Given the description of an element on the screen output the (x, y) to click on. 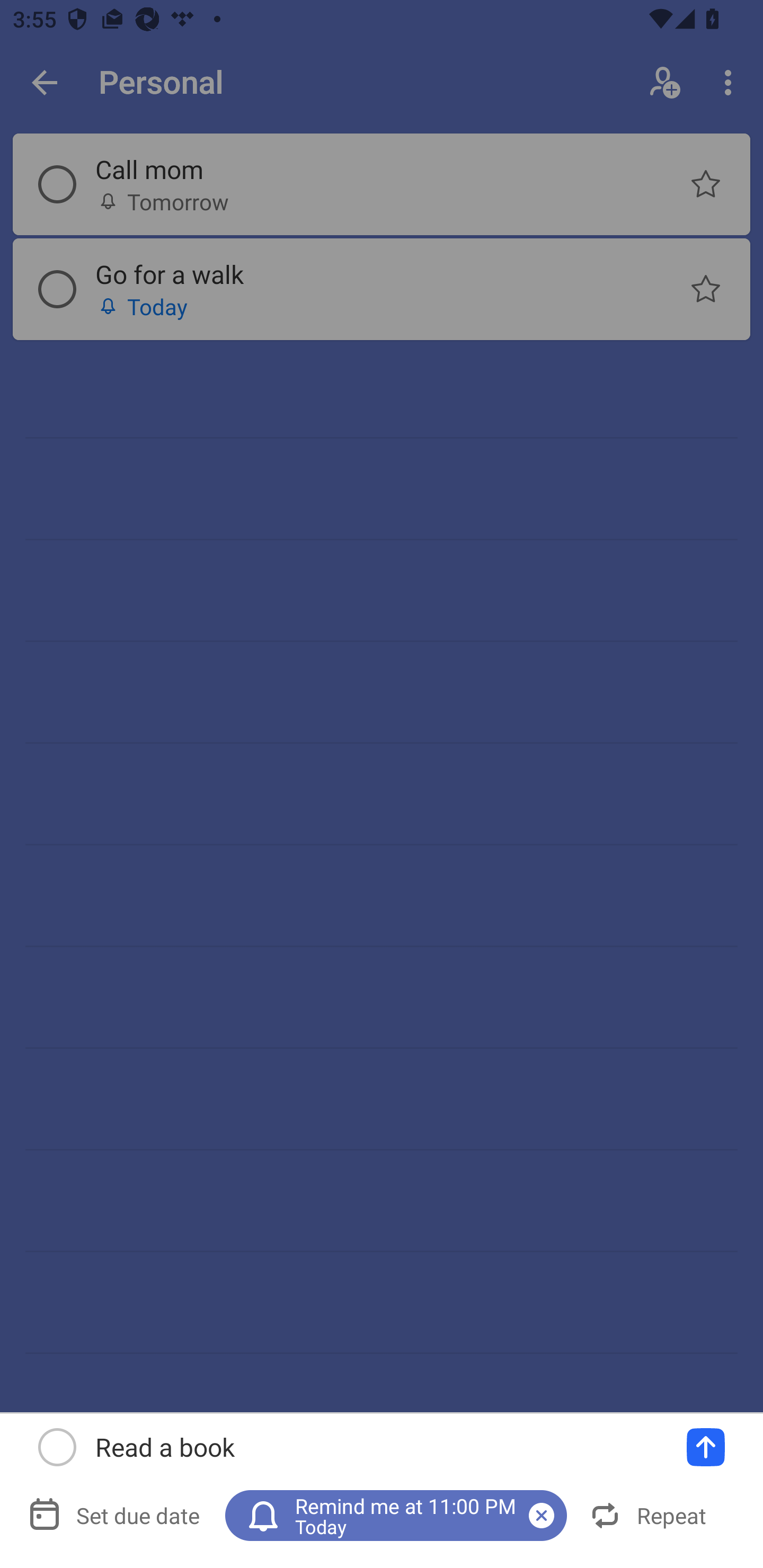
Repeat (648, 1515)
